Given the description of an element on the screen output the (x, y) to click on. 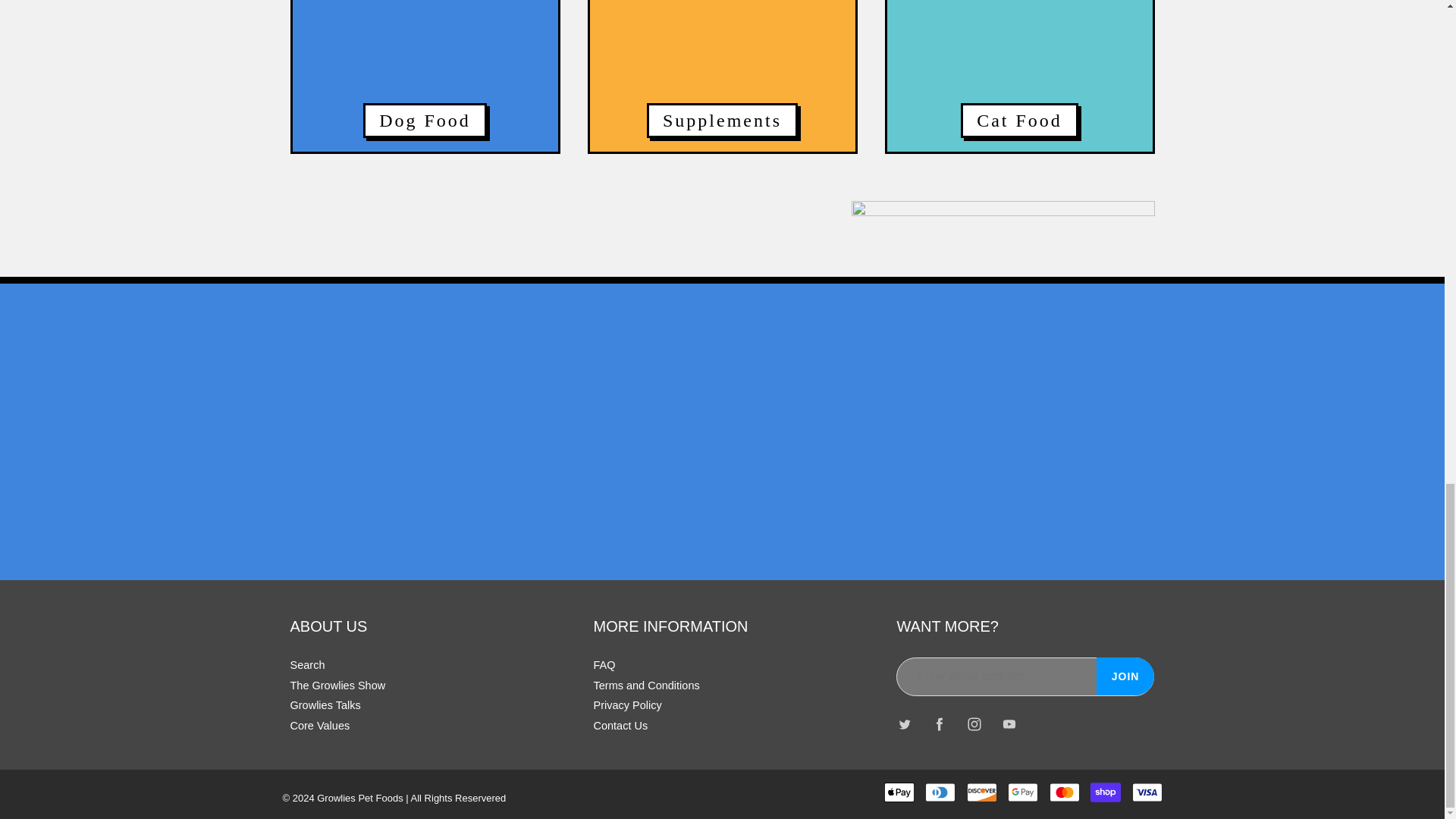
Dogs (424, 75)
Instagram (974, 724)
Supplements (721, 75)
Twitter (904, 724)
Shop Pay (1105, 792)
Apple Pay (898, 792)
Visa (1146, 792)
Mastercard (1064, 792)
YouTube (1009, 724)
Facebook (939, 724)
